Given the description of an element on the screen output the (x, y) to click on. 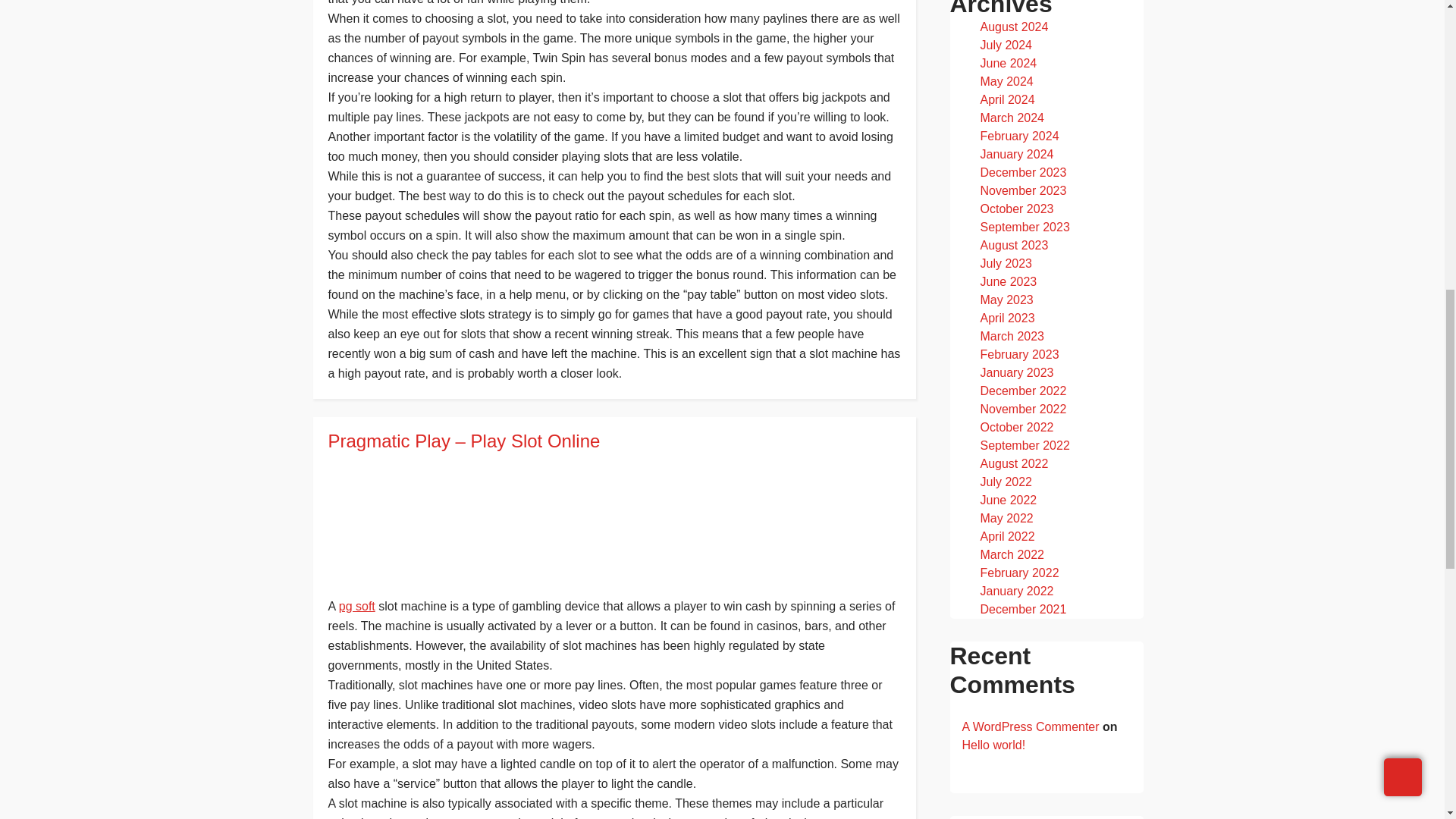
August 2023 (1013, 245)
May 2024 (1005, 81)
December 2023 (1022, 172)
January 2024 (1015, 154)
July 2023 (1005, 263)
June 2024 (1007, 62)
September 2023 (1023, 226)
pg soft (357, 605)
July 2024 (1005, 44)
April 2024 (1006, 99)
